Given the description of an element on the screen output the (x, y) to click on. 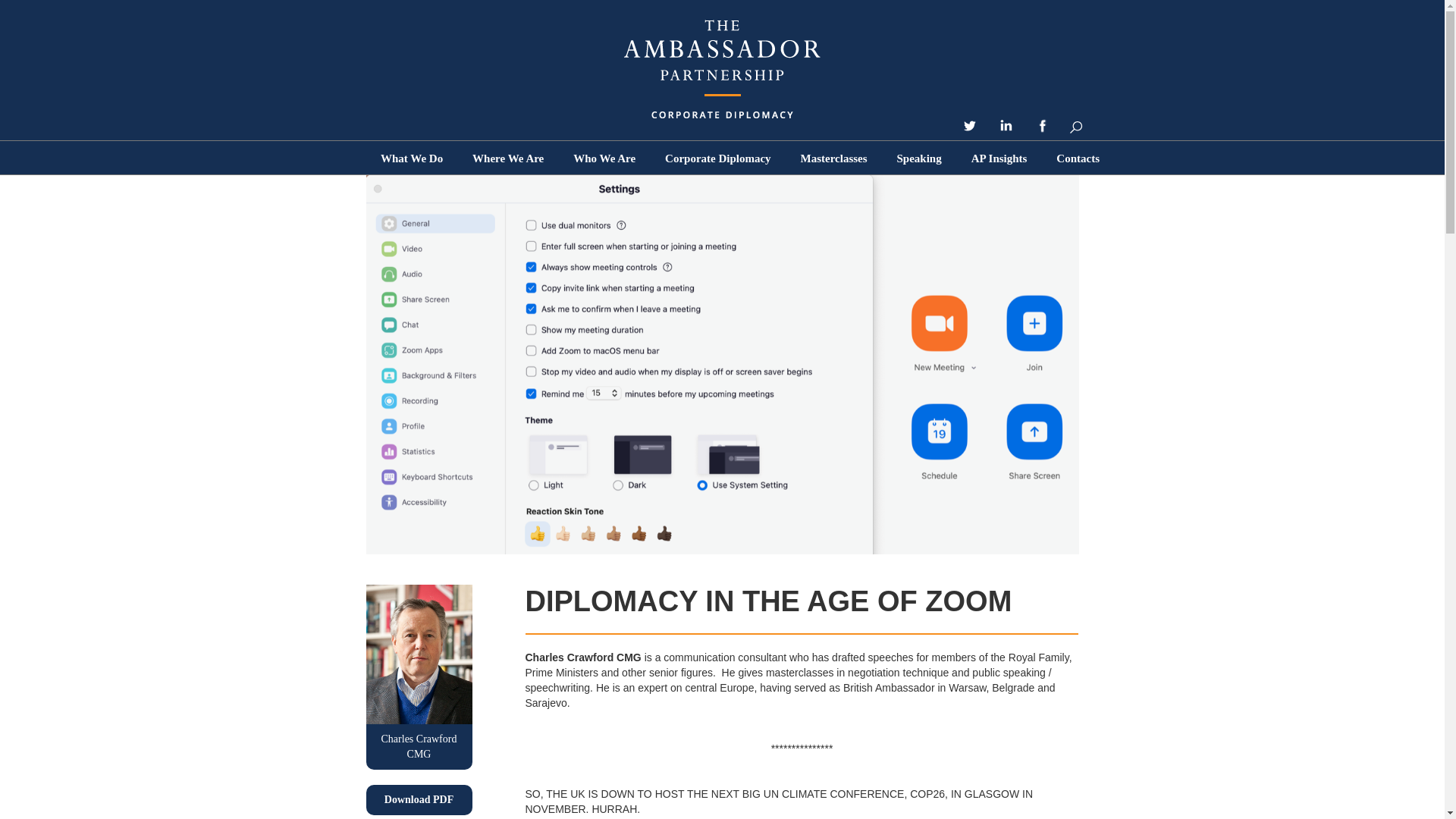
Corporate Diplomacy (718, 157)
Masterclasses (834, 157)
Where We Are (507, 157)
AP Insights (999, 157)
Who We Are (604, 157)
Speaking (919, 157)
What We Do (411, 157)
